Given the description of an element on the screen output the (x, y) to click on. 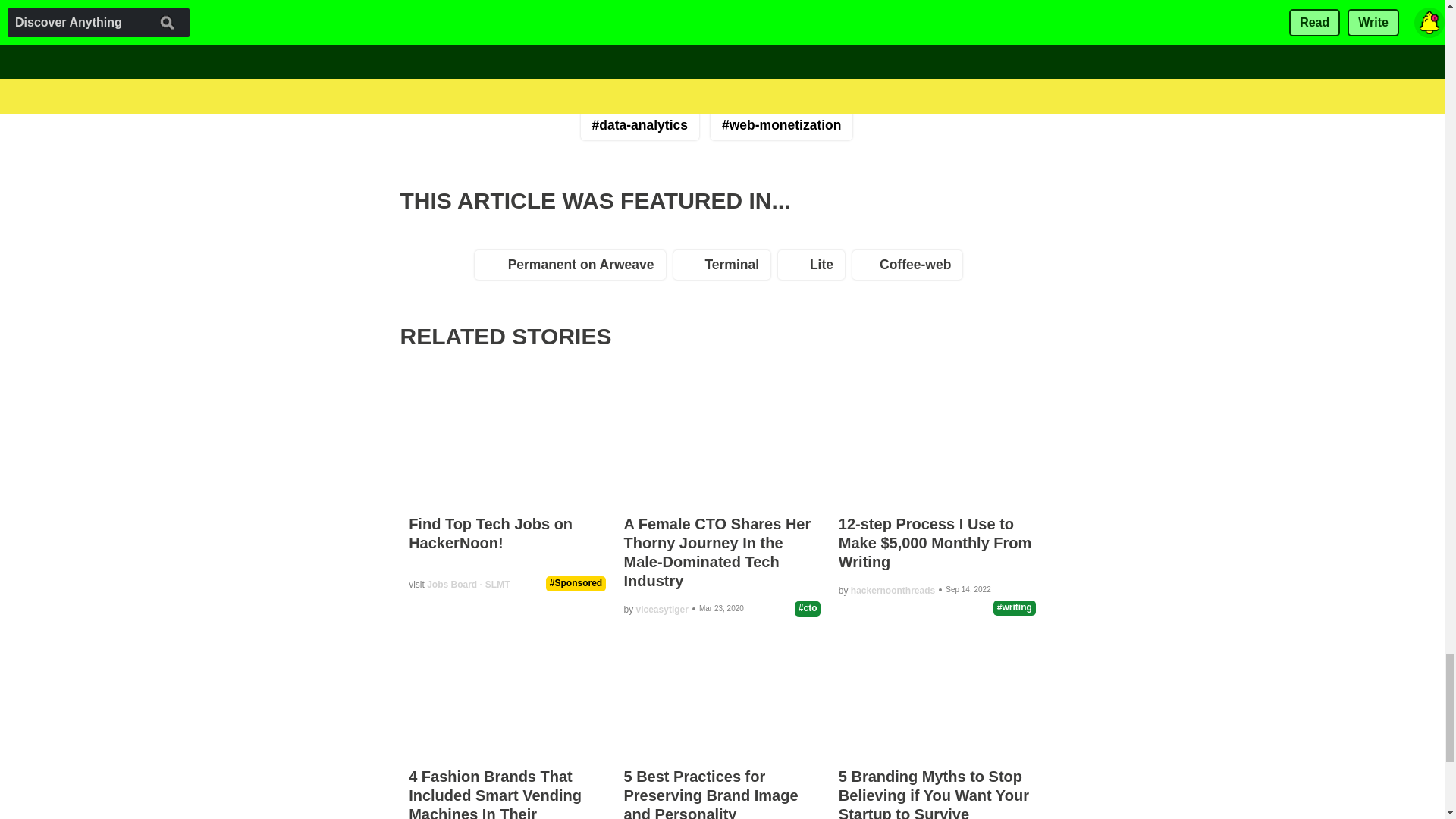
 Terminal (725, 268)
 Lite (814, 268)
Permanent on Arweave (573, 268)
Coffee-web (910, 268)
TECH-STORIES (477, 41)
